Given the description of an element on the screen output the (x, y) to click on. 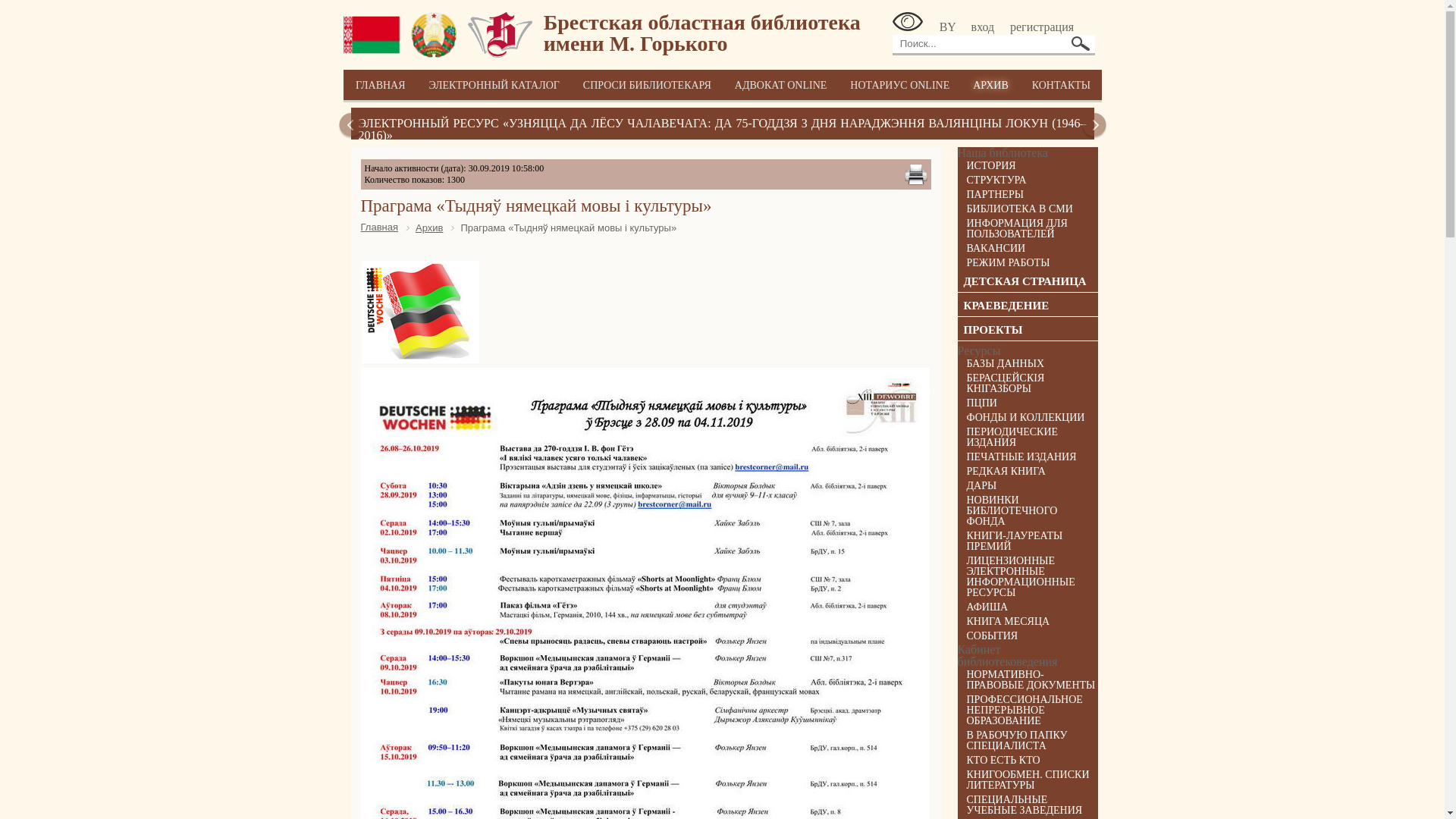
BY Element type: text (947, 26)
